Given the description of an element on the screen output the (x, y) to click on. 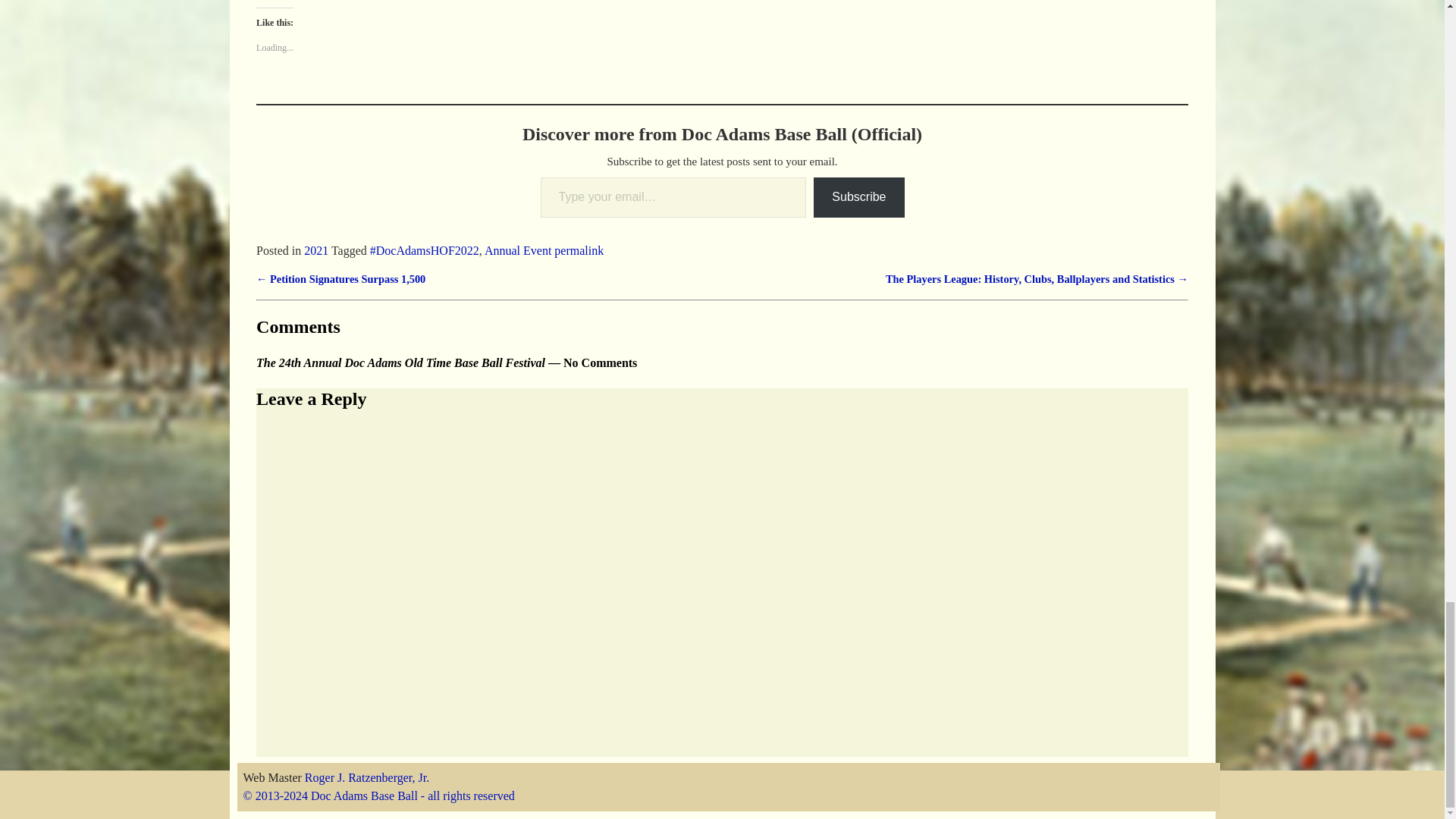
2021 (316, 250)
Subscribe (858, 197)
Please fill in this field. (673, 197)
